Given the description of an element on the screen output the (x, y) to click on. 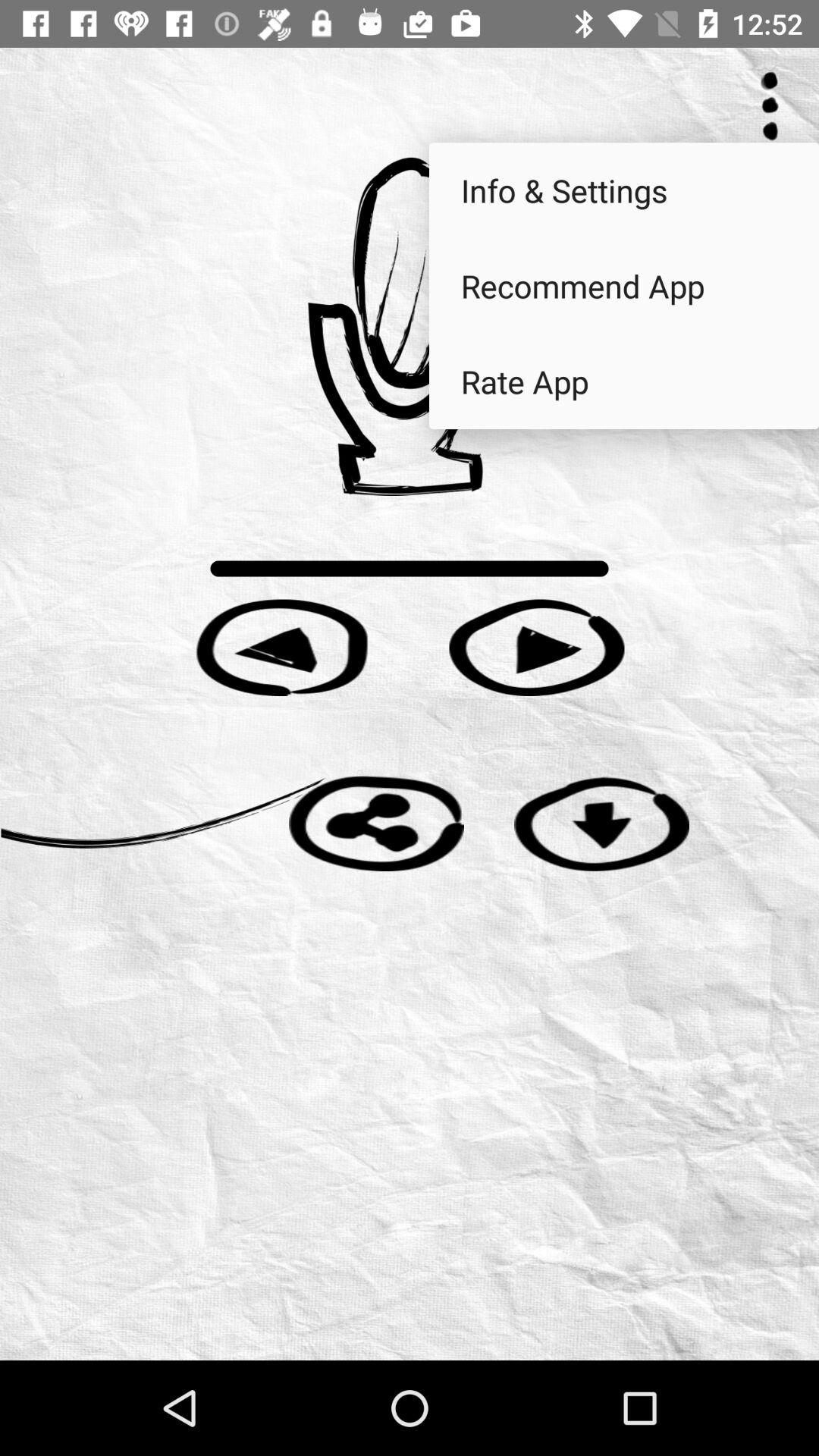
open settings (769, 106)
